Given the description of an element on the screen output the (x, y) to click on. 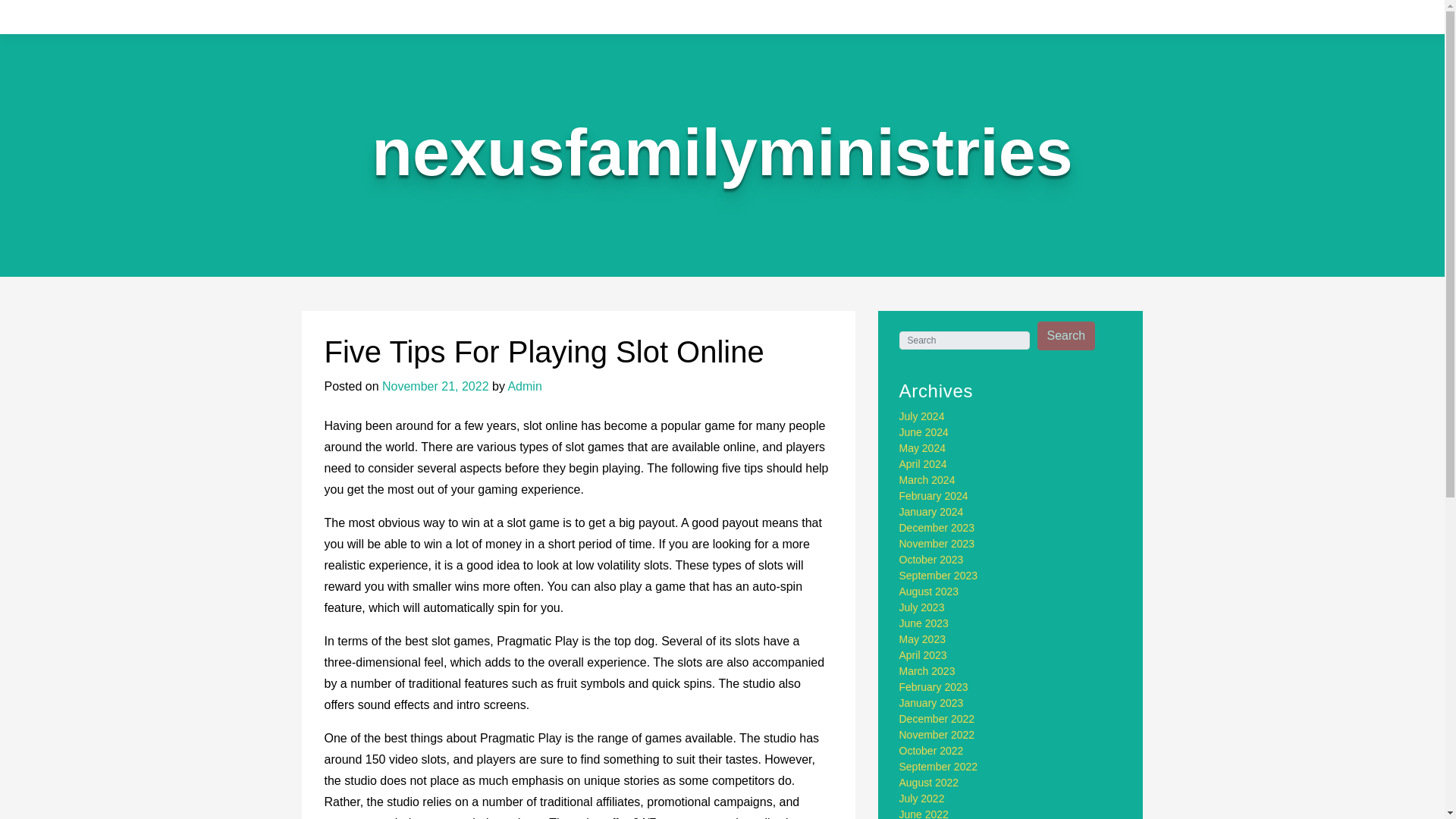
October 2023 (931, 559)
Admin (523, 386)
July 2023 (921, 607)
March 2024 (927, 480)
April 2023 (923, 654)
April 2024 (923, 463)
July 2024 (921, 416)
July 2022 (921, 798)
January 2023 (931, 702)
Search (1066, 335)
February 2023 (933, 686)
May 2023 (921, 639)
September 2023 (938, 575)
March 2023 (927, 671)
August 2022 (929, 782)
